Given the description of an element on the screen output the (x, y) to click on. 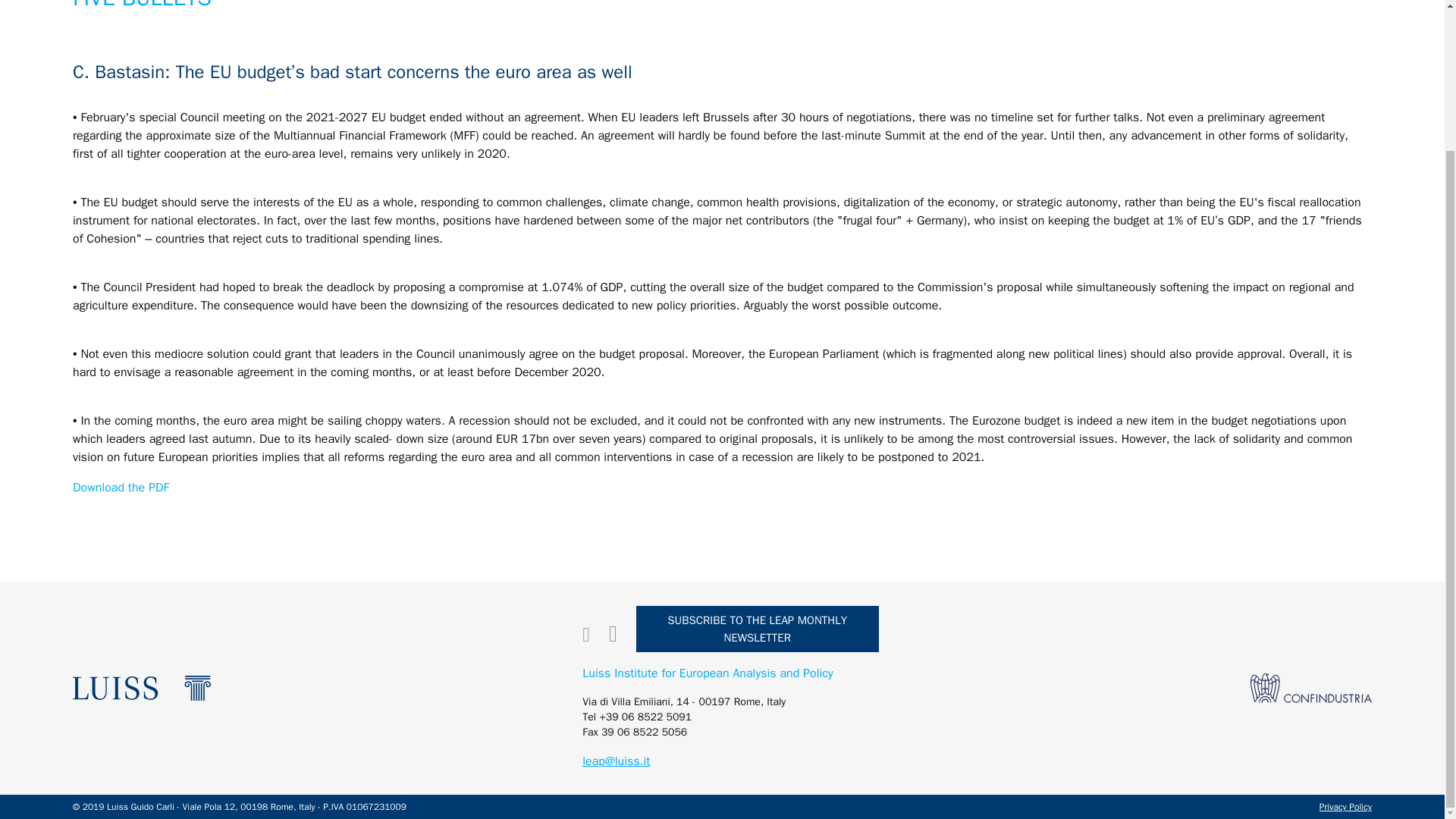
Privacy Policy (1345, 806)
Download the PDF (120, 487)
Confindustria (1310, 687)
Privacy Policy (1345, 806)
SUBSCRIBE TO THE LEAP MONTHLY NEWSLETTER (757, 628)
